Given the description of an element on the screen output the (x, y) to click on. 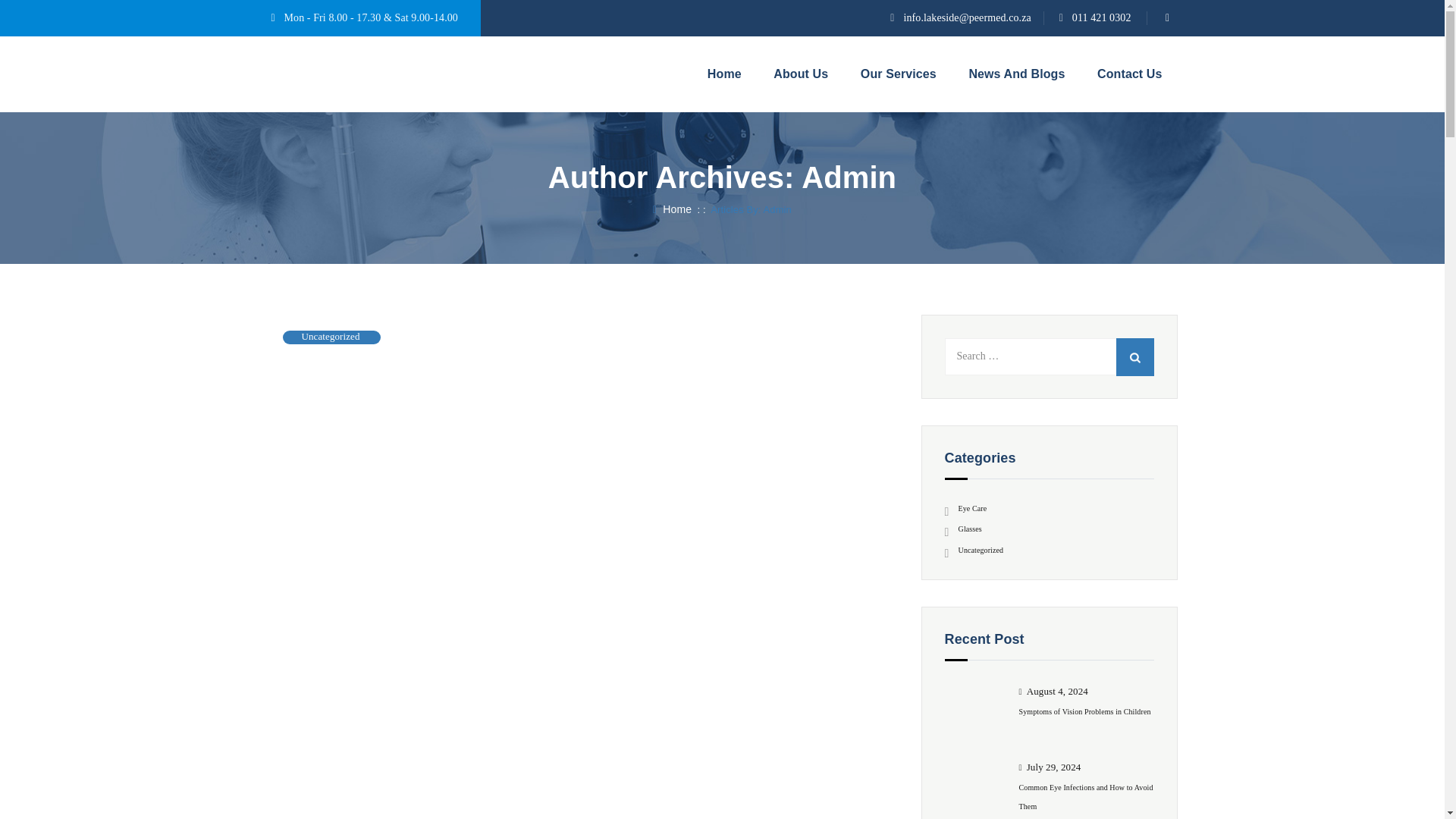
Uncategorized (330, 336)
About Us (800, 74)
Our Services (898, 74)
011 421 0302 (1101, 17)
Contact Us (1128, 74)
Go to Peermed Optometrist . (671, 209)
News And Blogs (1016, 74)
  Home (671, 209)
Search (1135, 356)
Search (1135, 356)
